Given the description of an element on the screen output the (x, y) to click on. 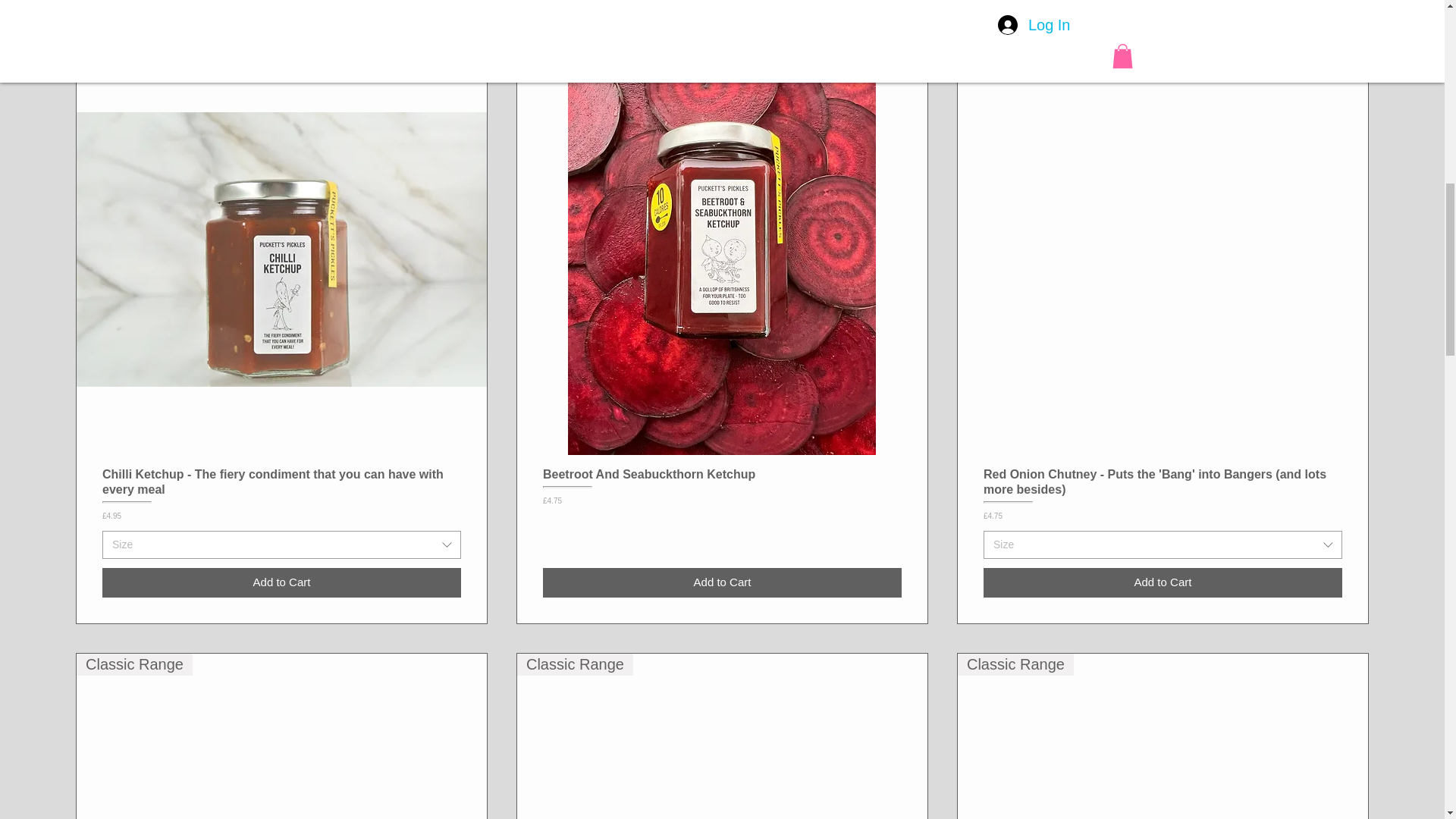
Classic Range (281, 736)
Add to Cart (722, 582)
Size (281, 544)
Size (1163, 544)
Load Previous (721, 5)
Add to Cart (1163, 582)
Add to Cart (281, 582)
